Given the description of an element on the screen output the (x, y) to click on. 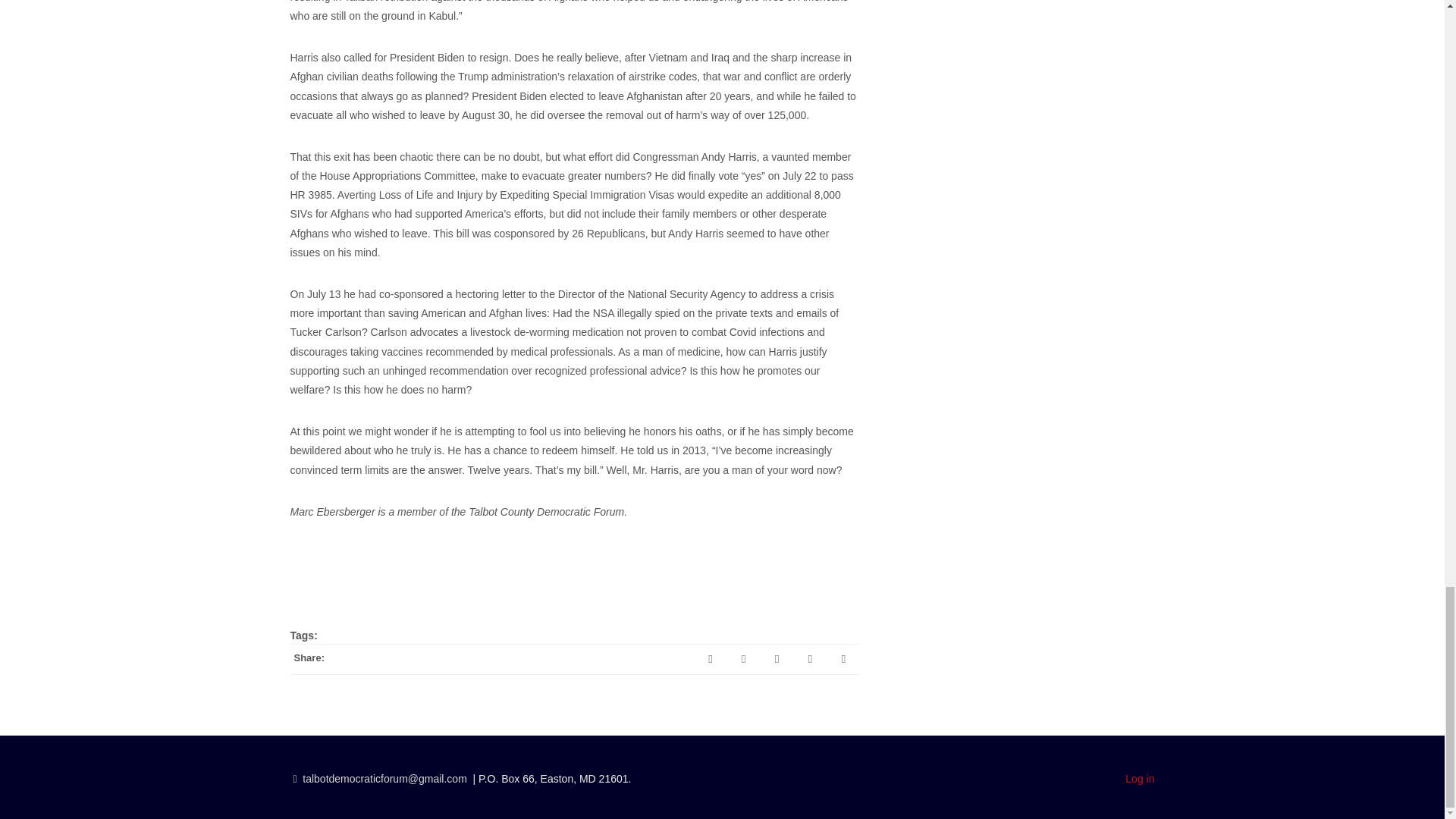
Log in (1139, 778)
